Given the description of an element on the screen output the (x, y) to click on. 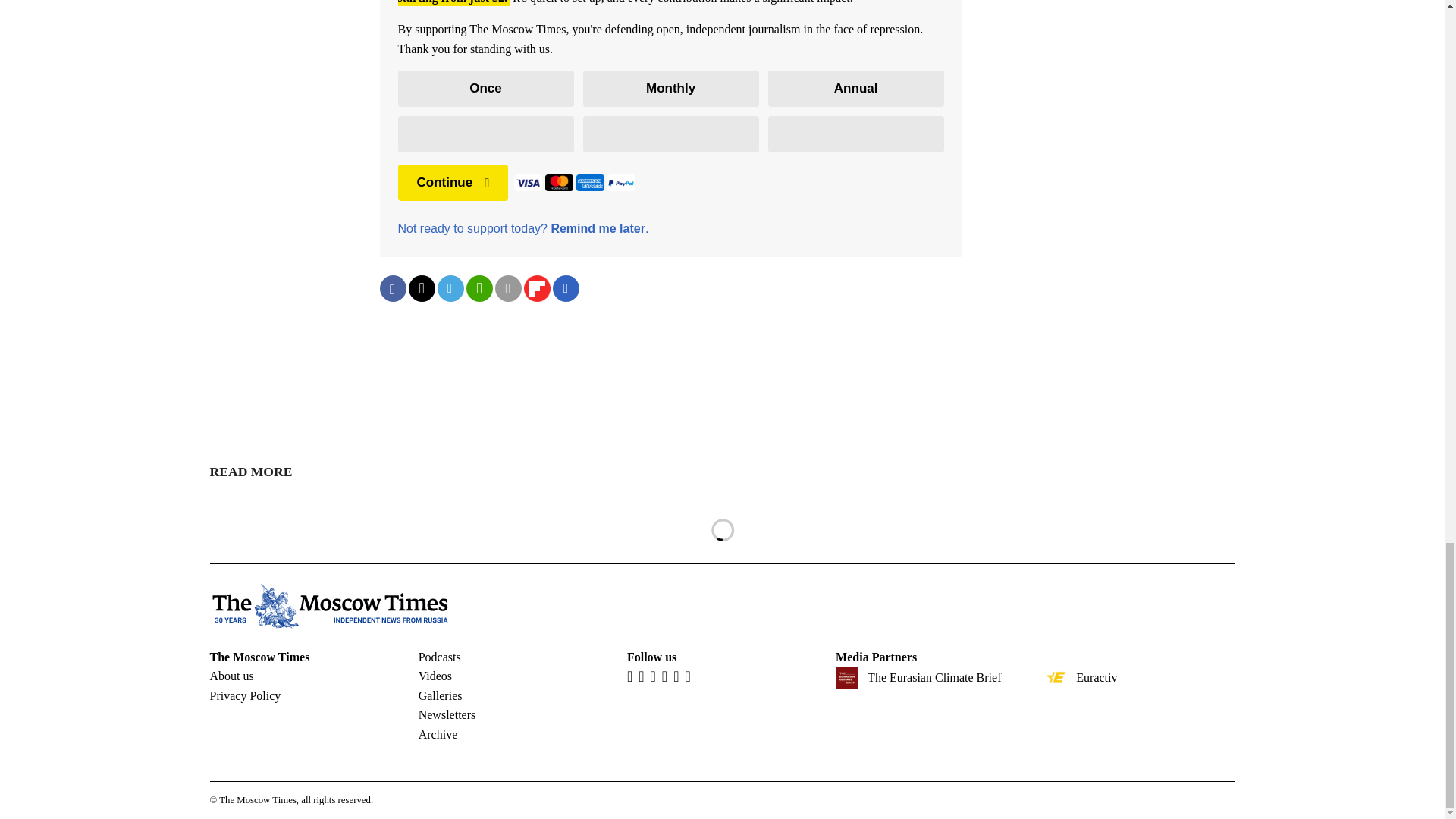
Share on Facebook (392, 288)
Share on Flipboard (536, 288)
Share on Telegram (449, 288)
Share on Twitter (420, 288)
